Given the description of an element on the screen output the (x, y) to click on. 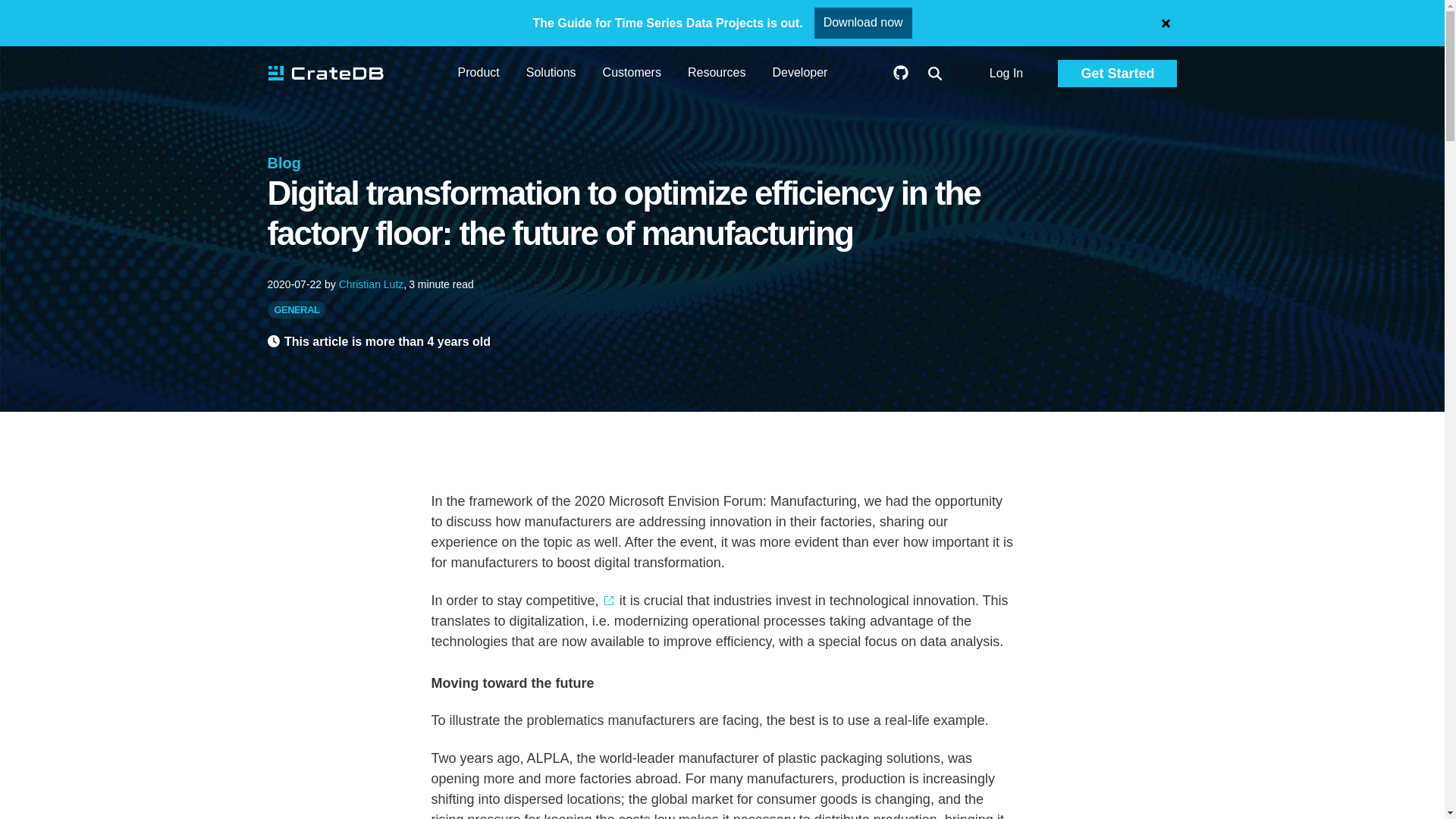
Customers (631, 74)
Download now (862, 22)
CrateDB logo (325, 73)
Product (478, 74)
Product (478, 74)
Solutions (550, 74)
Solutions (550, 74)
Resources (716, 74)
